Given the description of an element on the screen output the (x, y) to click on. 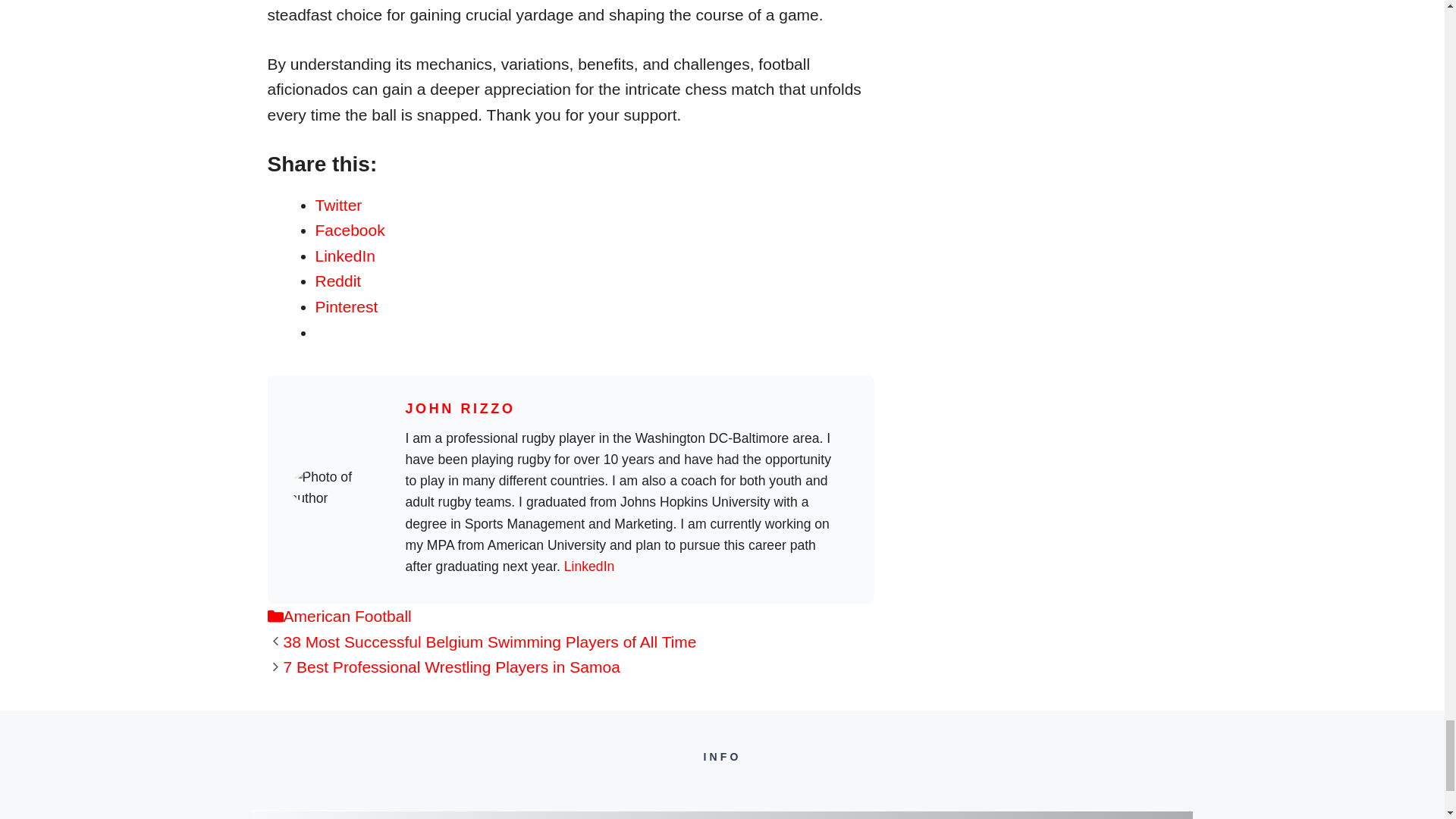
Click to share on Pinterest (346, 306)
LinkedIn (345, 255)
Twitter (338, 204)
Click to share on Twitter (338, 204)
Click to share on Facebook (350, 230)
Click to share on Reddit (338, 280)
Click to share on LinkedIn (345, 255)
38 Most Successful Belgium Swimming Players of All Time (490, 641)
Facebook (350, 230)
JOHN RIZZO (459, 408)
